Given the description of an element on the screen output the (x, y) to click on. 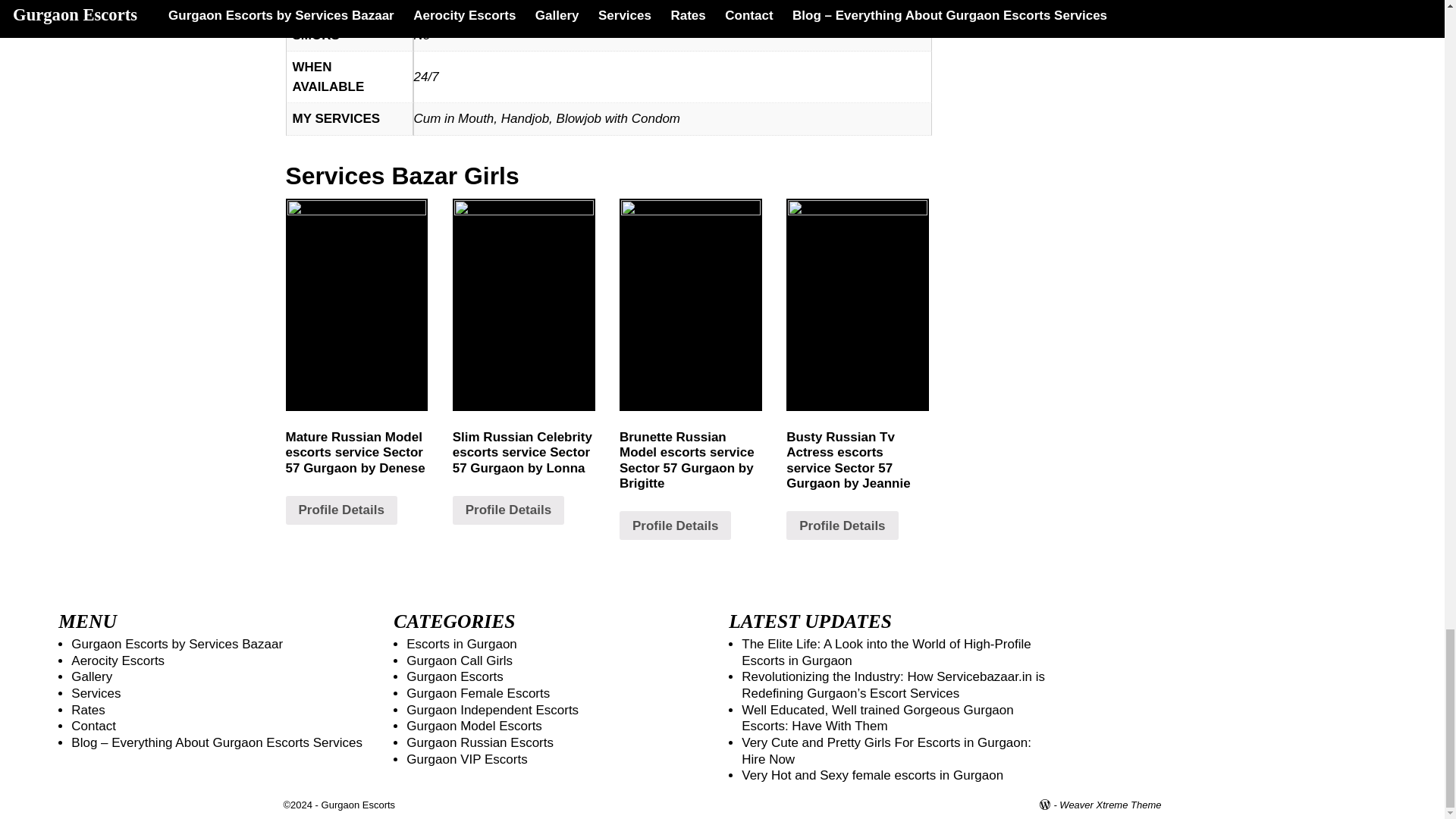
Proudly powered by WordPress (1049, 804)
Gurgaon Escorts (358, 804)
Weaver Xtreme Theme (1109, 804)
